Given the description of an element on the screen output the (x, y) to click on. 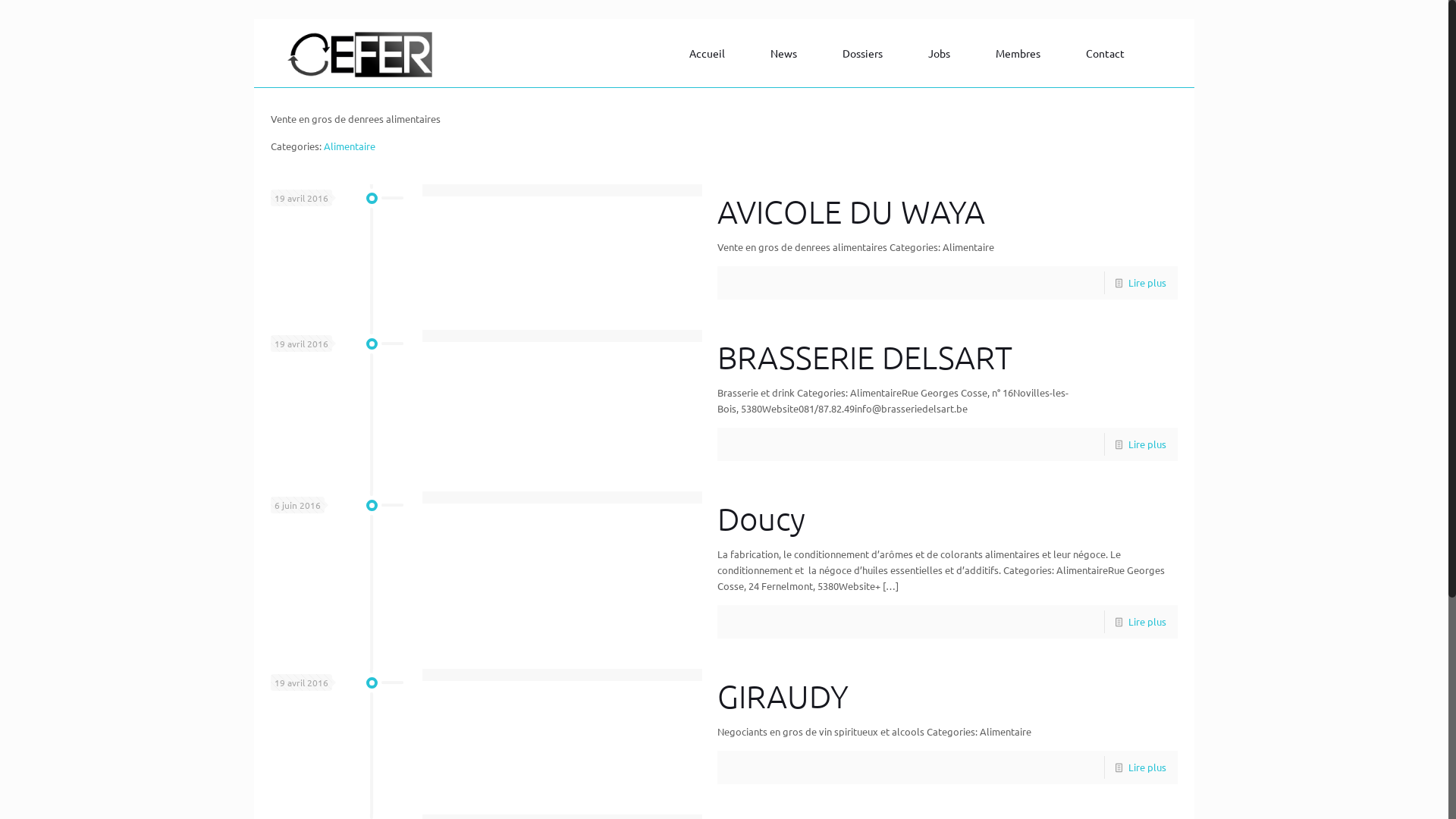
Lire plus Element type: text (1147, 621)
Lire plus Element type: text (1147, 766)
Membres Element type: text (1021, 52)
Contact Element type: text (1108, 52)
Lire plus Element type: text (1147, 282)
BRASSERIE DELSART Element type: text (864, 356)
Alimentaire Element type: text (349, 145)
Doucy Element type: text (761, 517)
GIRAUDY Element type: text (782, 695)
Dossiers Element type: text (866, 52)
News Element type: text (787, 52)
Lire plus Element type: text (1147, 443)
Jobs Element type: text (942, 52)
Accueil Element type: text (710, 52)
AVICOLE DU WAYA Element type: text (851, 210)
